Given the description of an element on the screen output the (x, y) to click on. 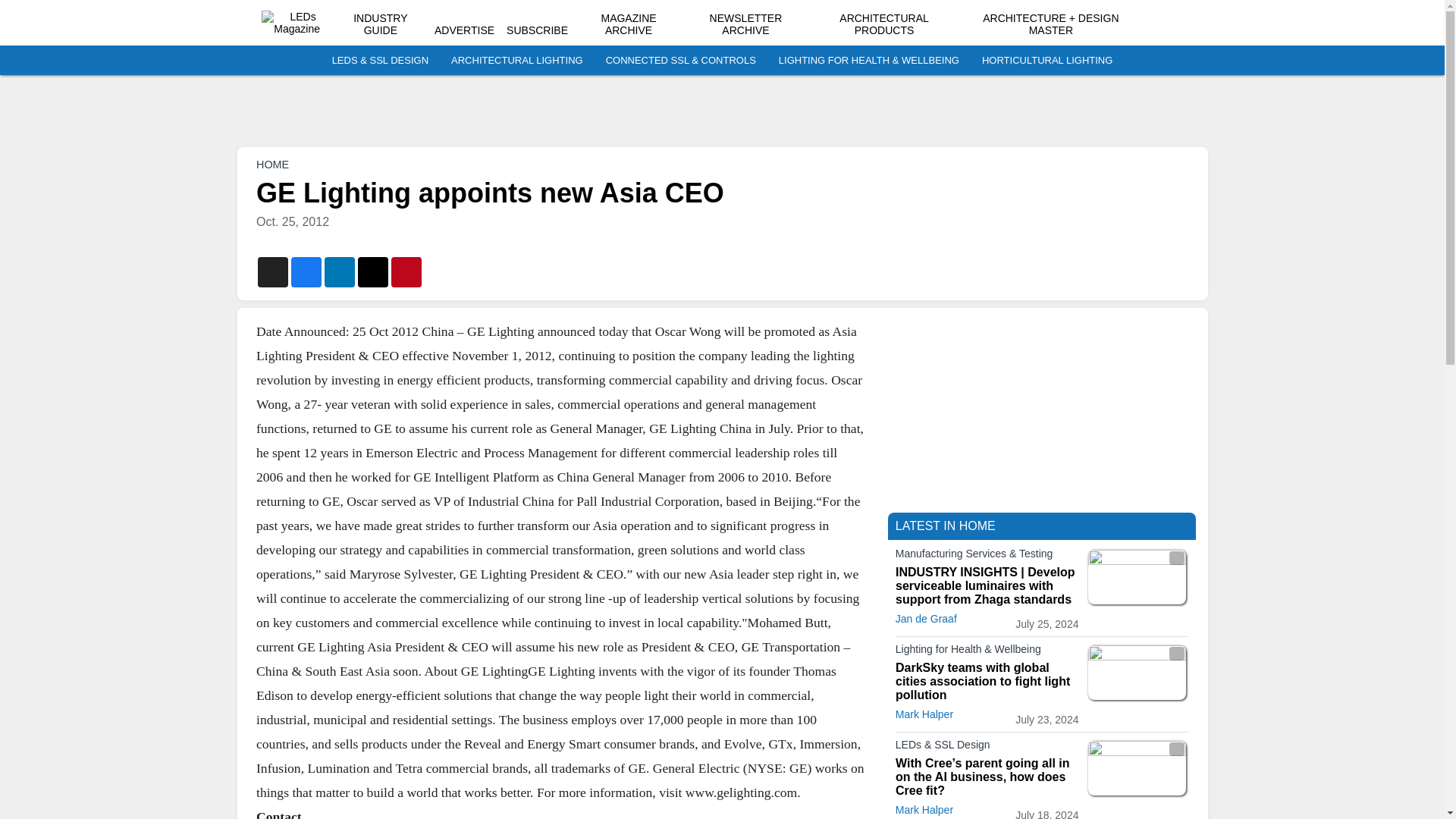
NEWSLETTER ARCHIVE (746, 24)
ARCHITECTURAL LIGHTING (517, 60)
MAGAZINE ARCHIVE (627, 24)
SUBSCRIBE (536, 30)
HORTICULTURAL LIGHTING (1046, 60)
Mark Halper (924, 714)
HOME (272, 164)
LATEST IN HOME (945, 525)
ADVERTISE (464, 30)
INDUSTRY GUIDE (380, 24)
ARCHITECTURAL PRODUCTS (884, 24)
Jan de Graaf (925, 618)
Mark Halper (924, 809)
